Given the description of an element on the screen output the (x, y) to click on. 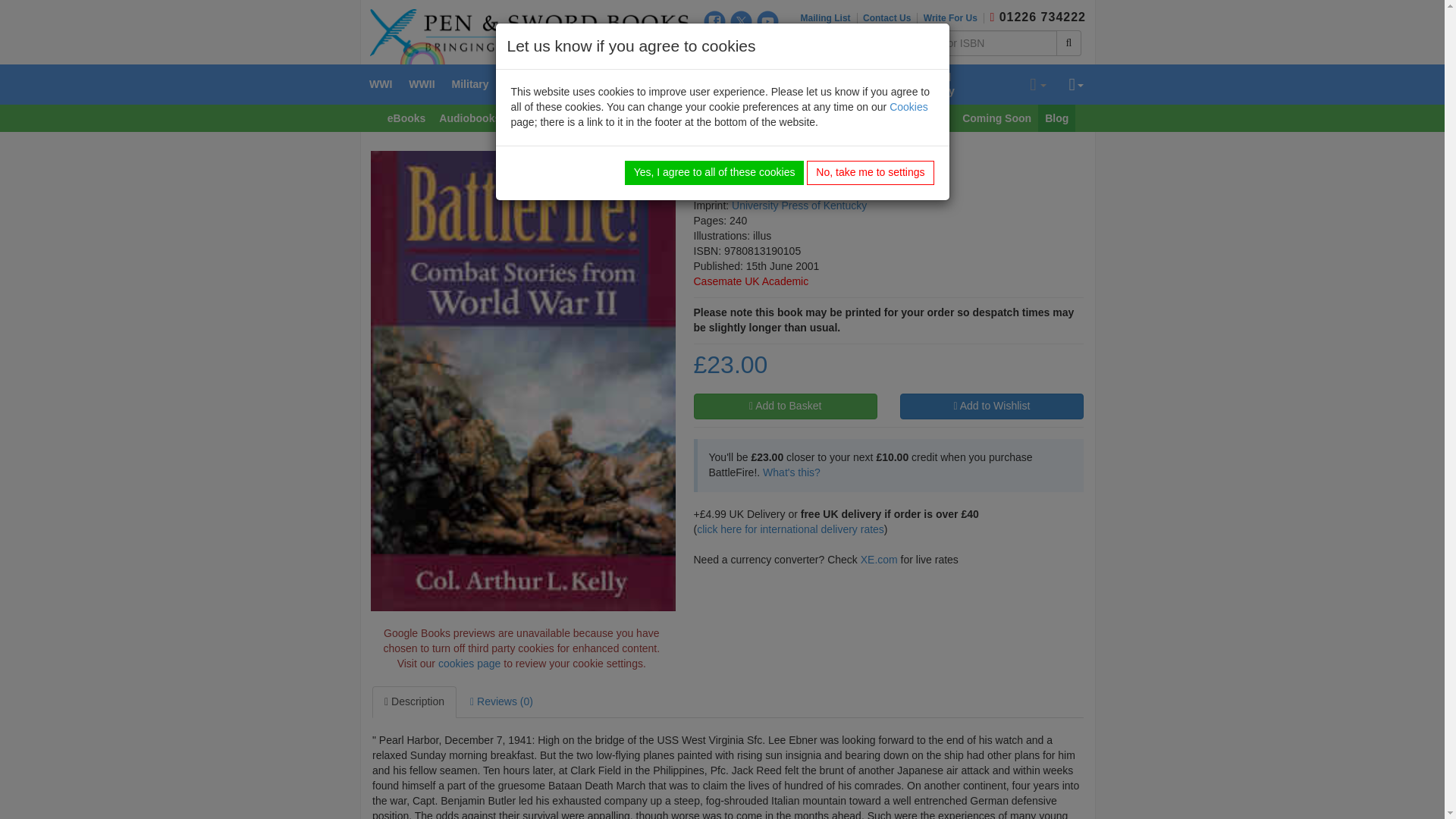
Contact Us (890, 18)
Facebook (714, 21)
Mailing List (828, 18)
Write For Us (953, 18)
NetGalley (767, 45)
Instagram (714, 45)
X (741, 21)
TikTok (741, 45)
YouTube (767, 21)
Your basket is empty (1037, 84)
